Given the description of an element on the screen output the (x, y) to click on. 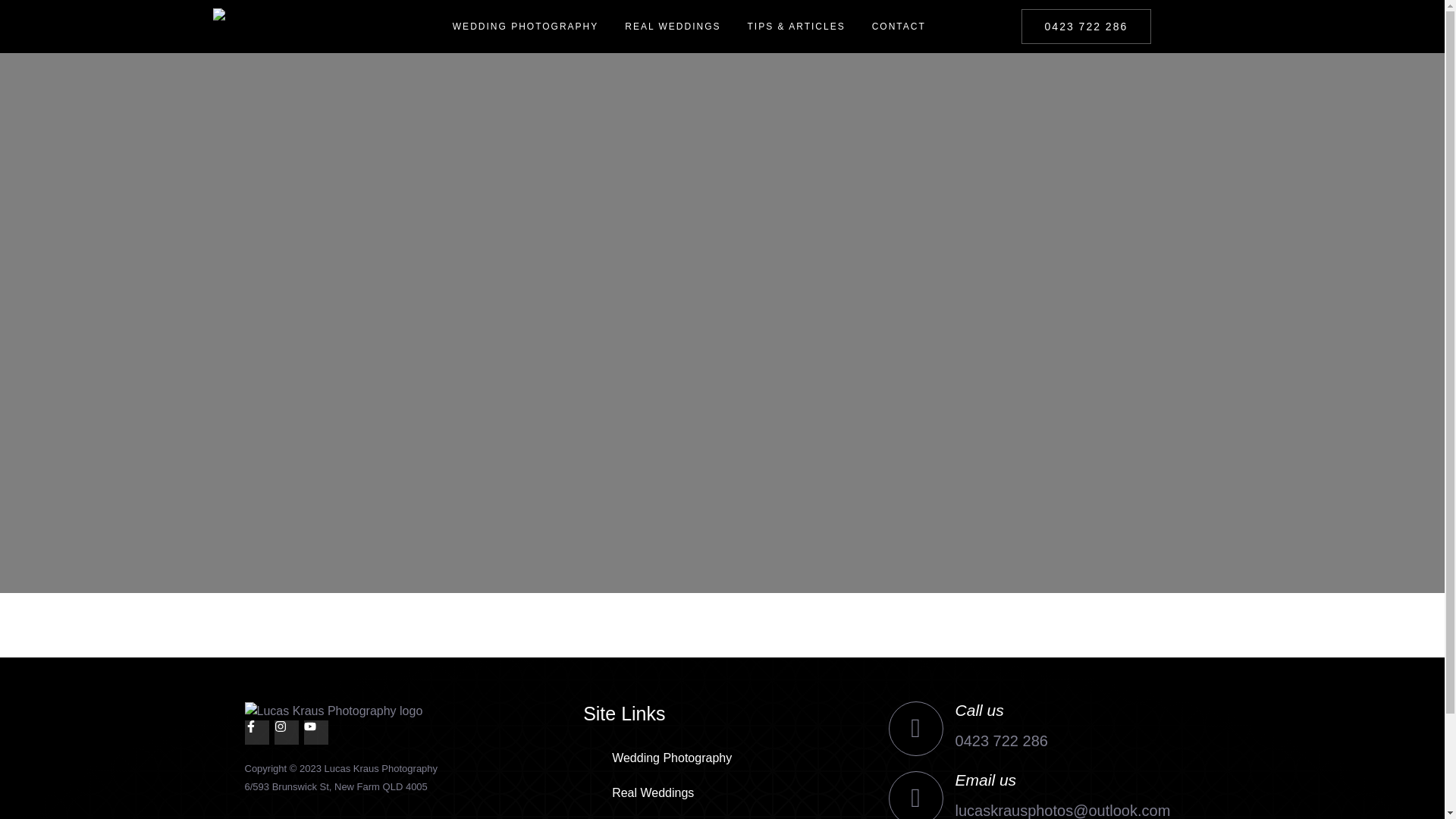
CONTACT (899, 26)
REAL WEDDINGS (672, 26)
0423 722 286 (1086, 26)
Lucas Kraus Photography logo (282, 26)
Lucas Kraus Photography logo (370, 710)
WEDDING PHOTOGRAPHY (525, 26)
